Given the description of an element on the screen output the (x, y) to click on. 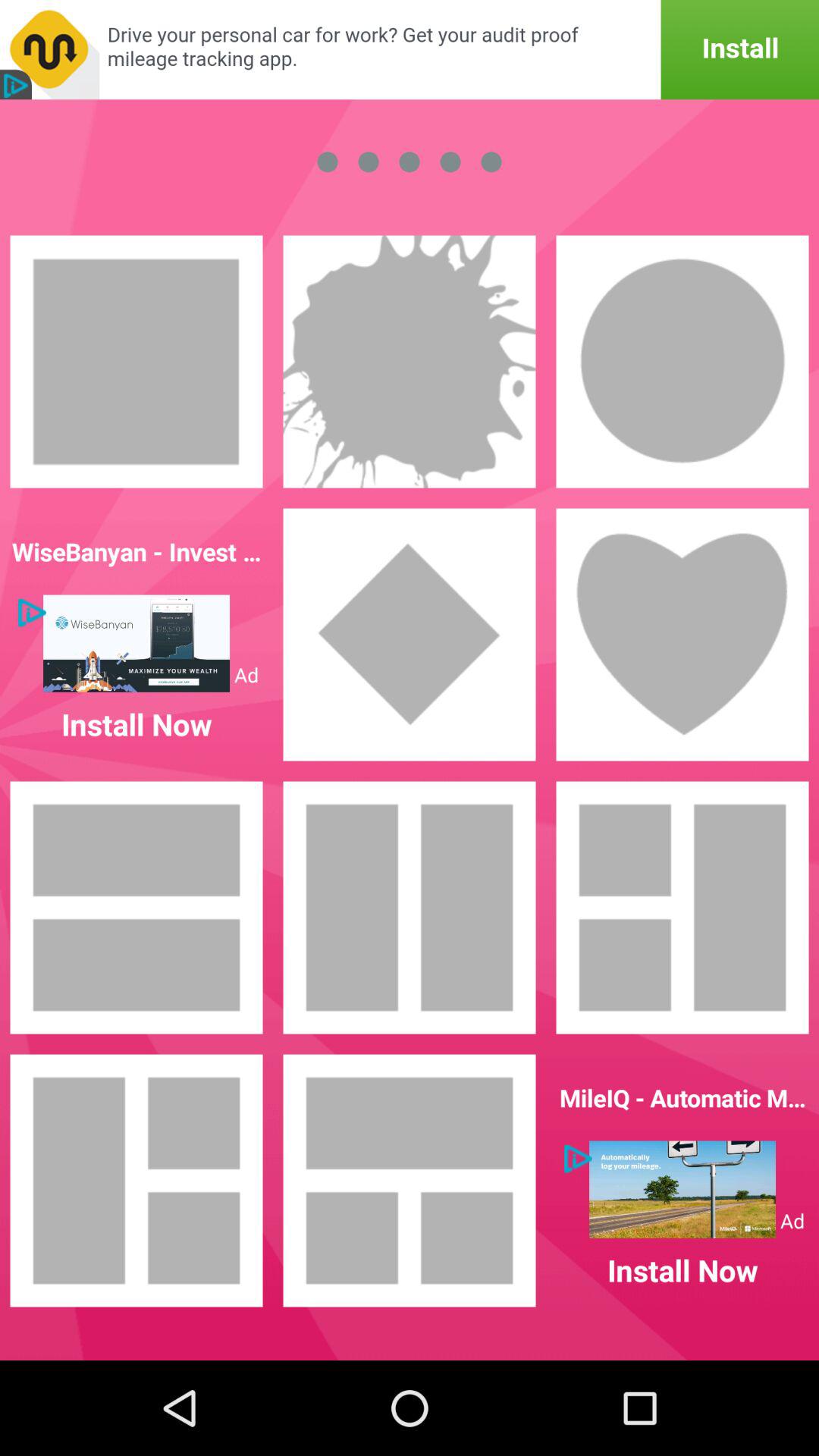
advertisement (682, 1189)
